Given the description of an element on the screen output the (x, y) to click on. 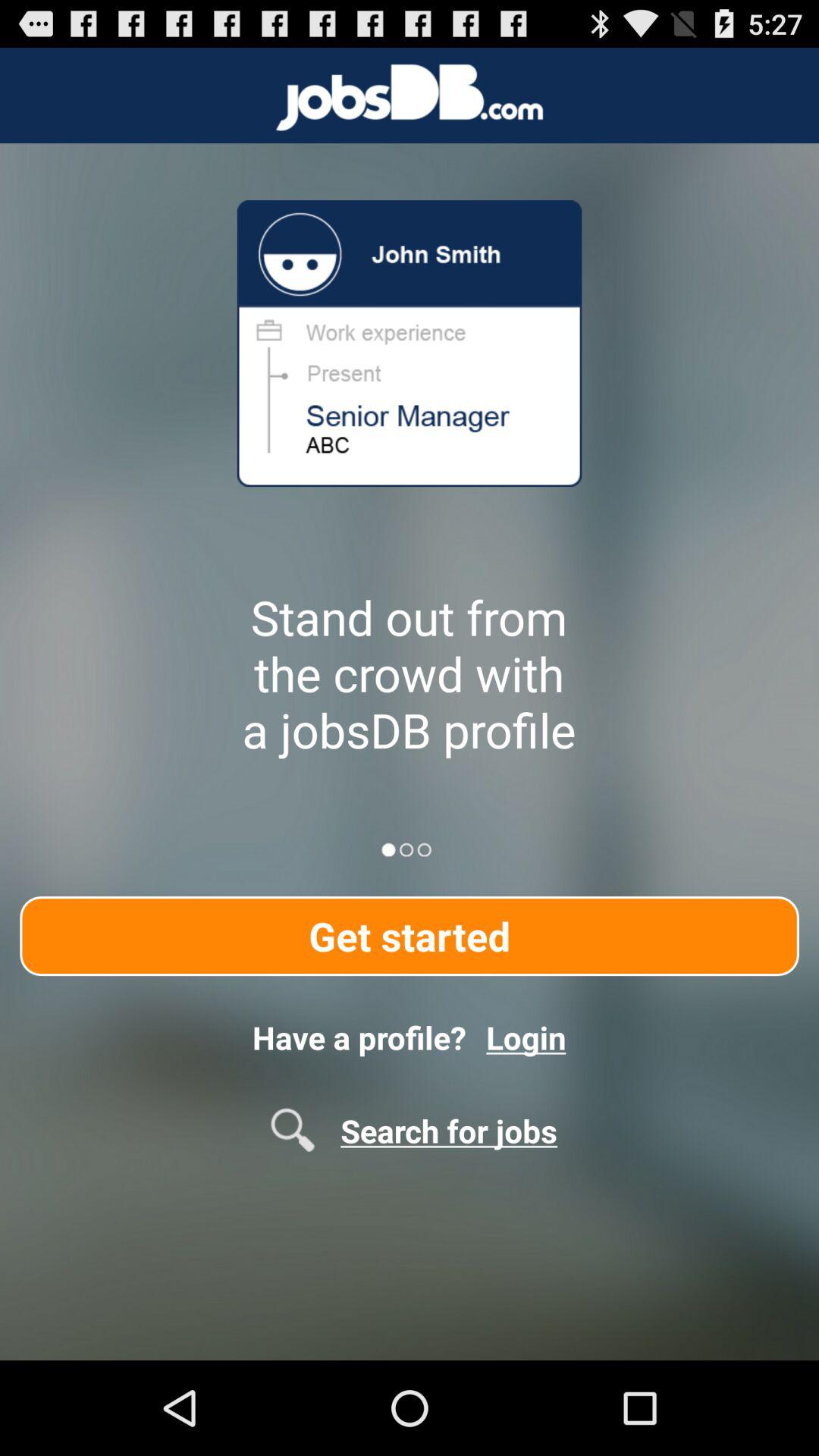
scroll to the get started button (409, 935)
